Given the description of an element on the screen output the (x, y) to click on. 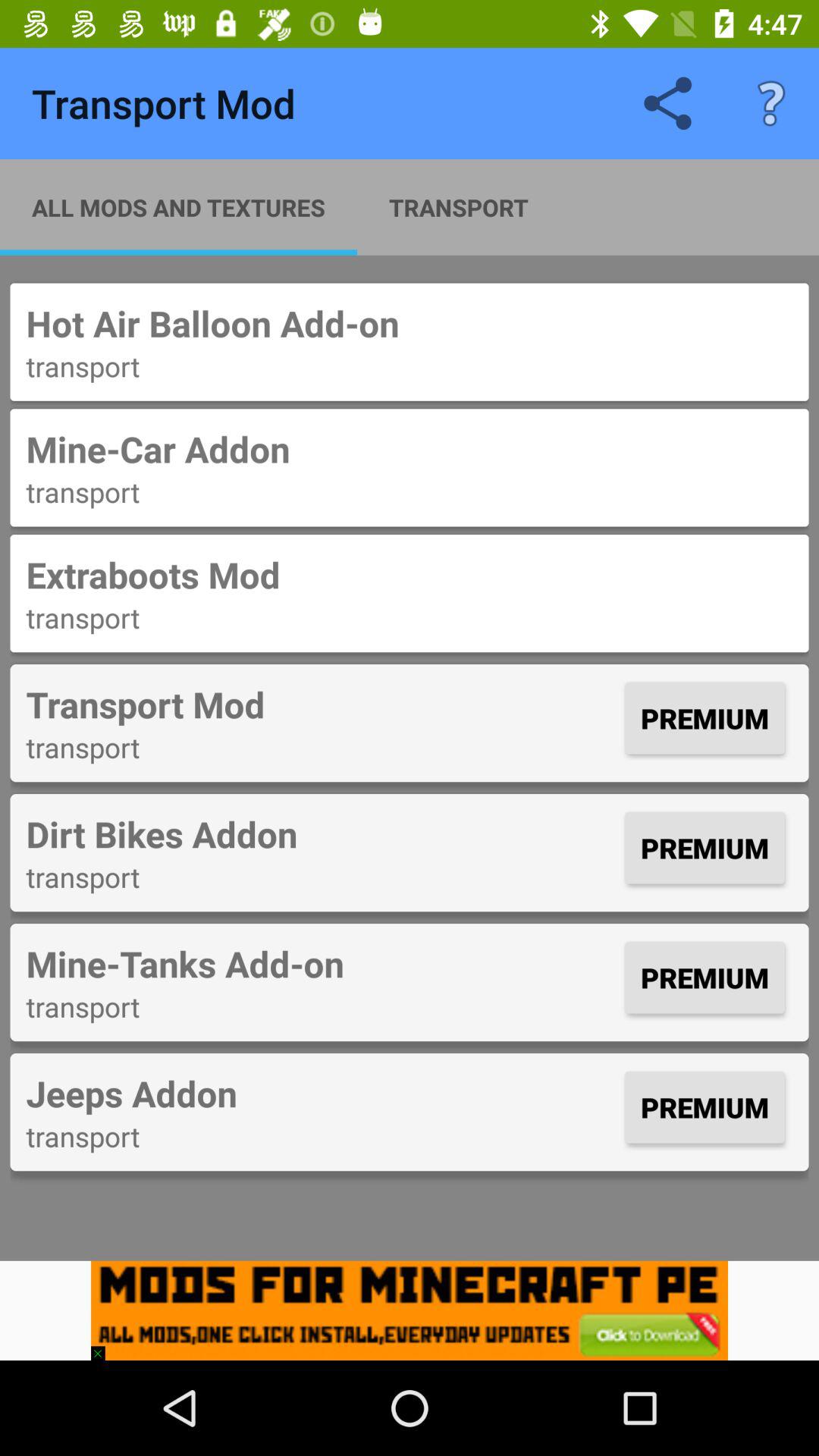
mobile application advertisement (409, 1310)
